Given the description of an element on the screen output the (x, y) to click on. 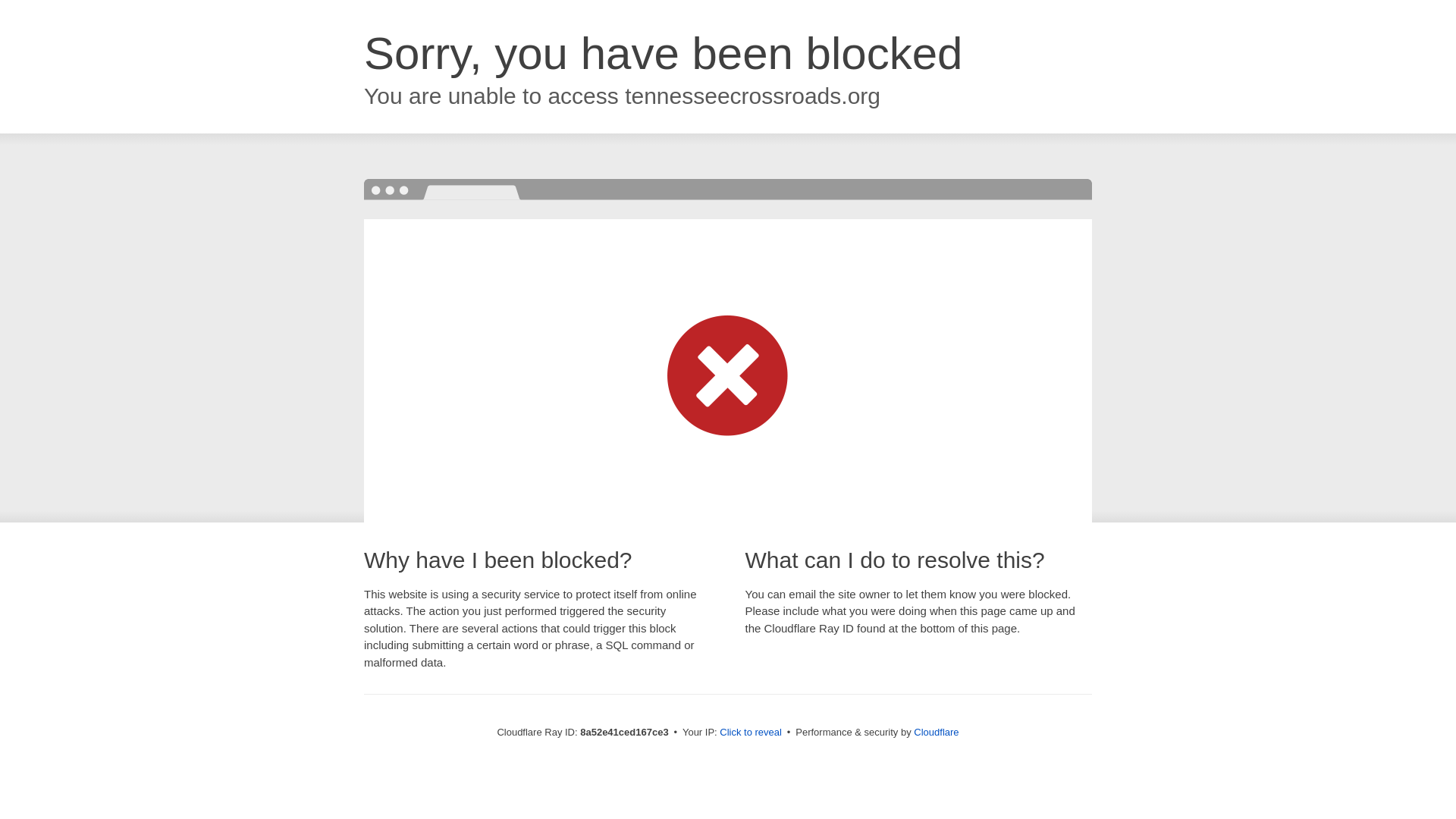
Click to reveal (750, 732)
Cloudflare (936, 731)
